Given the description of an element on the screen output the (x, y) to click on. 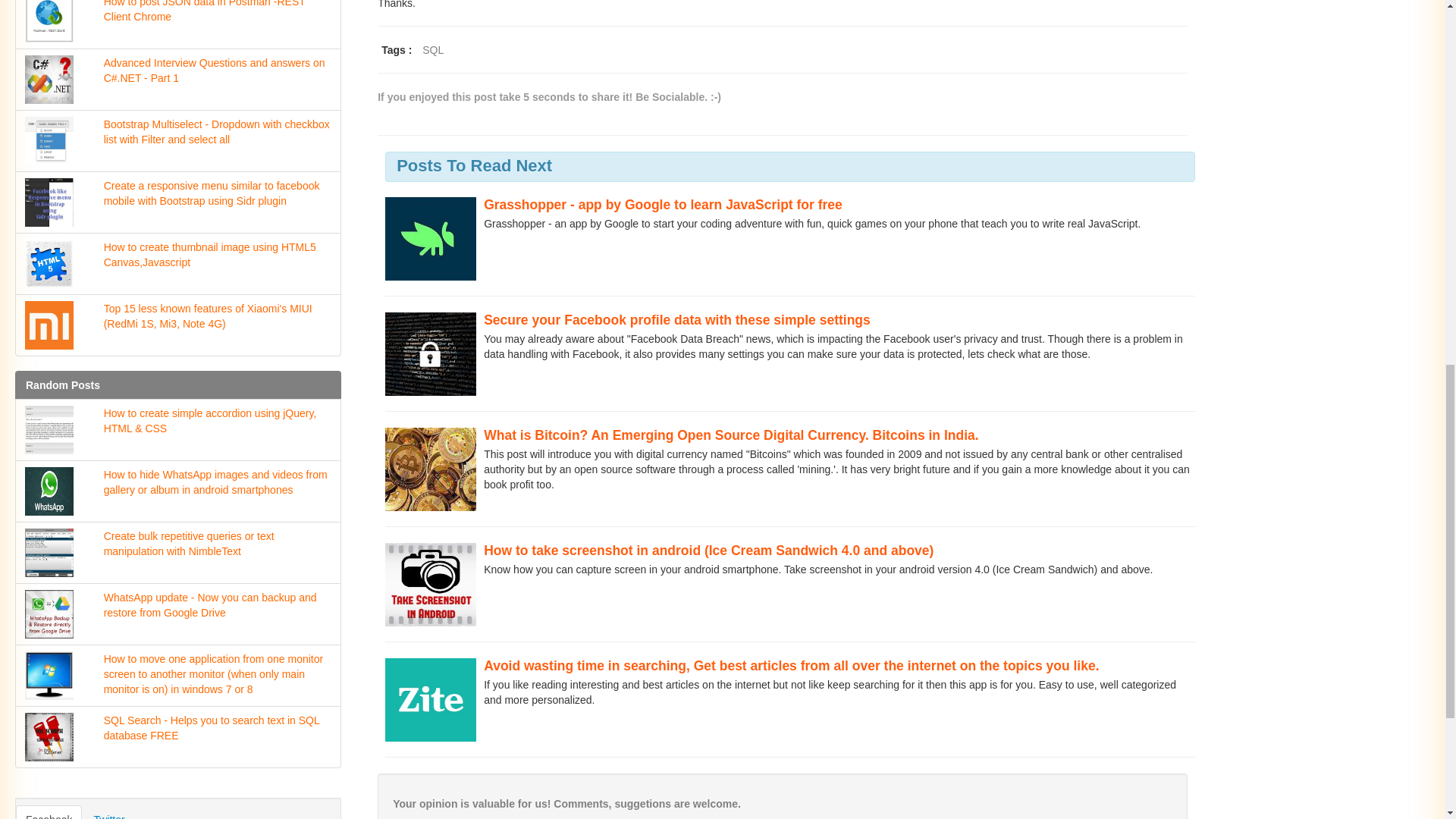
How to create thumbnail image using HTML5 Canvas,Javascript (177, 263)
SQL Search - Helps you to search text in SQL database FREE (177, 736)
Twitter (107, 812)
How to post JSON data in Postman -REST Client Chrome (177, 24)
Facebook (48, 812)
